Given the description of an element on the screen output the (x, y) to click on. 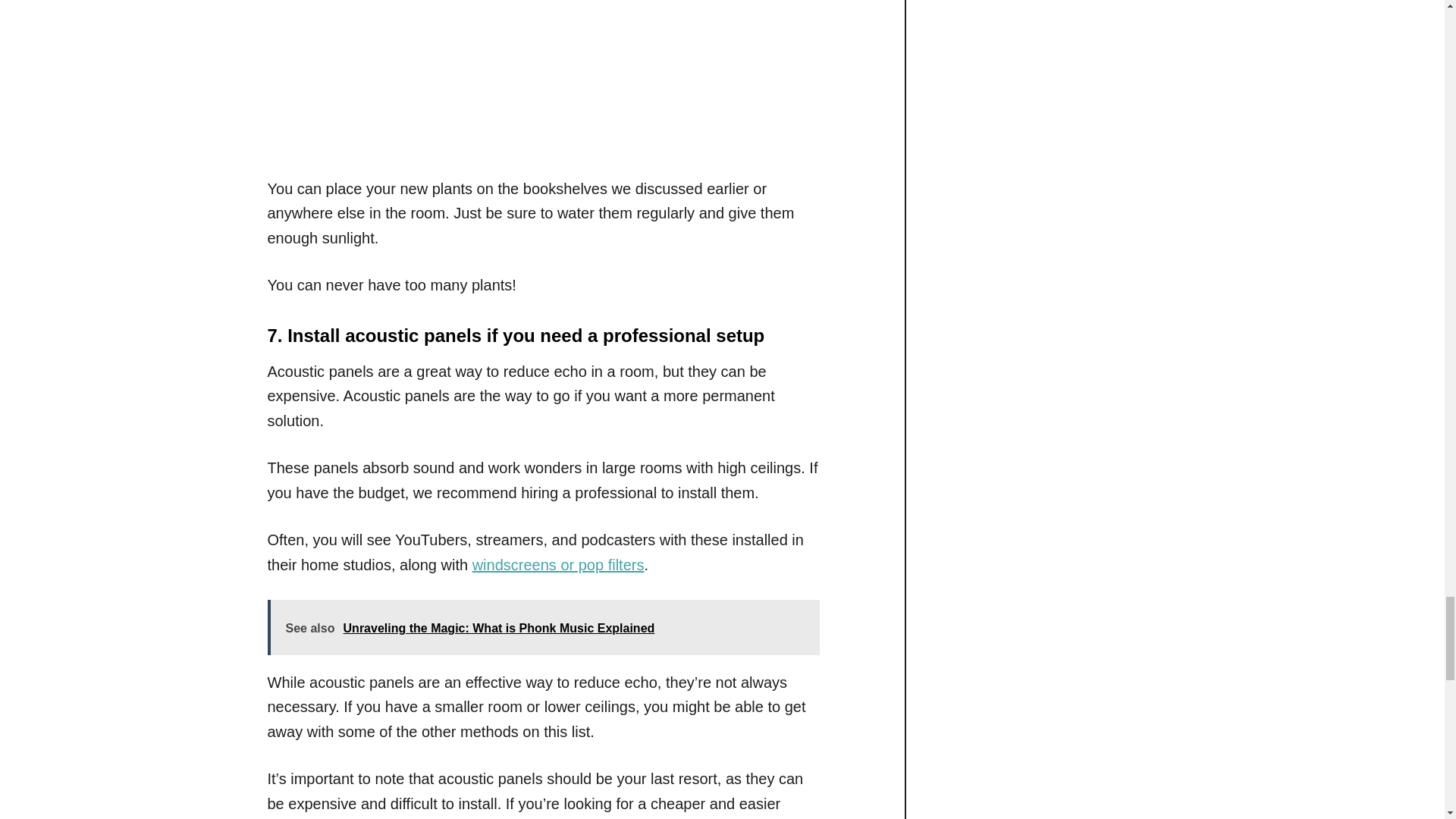
windscreens or pop filters (558, 564)
